Given the description of an element on the screen output the (x, y) to click on. 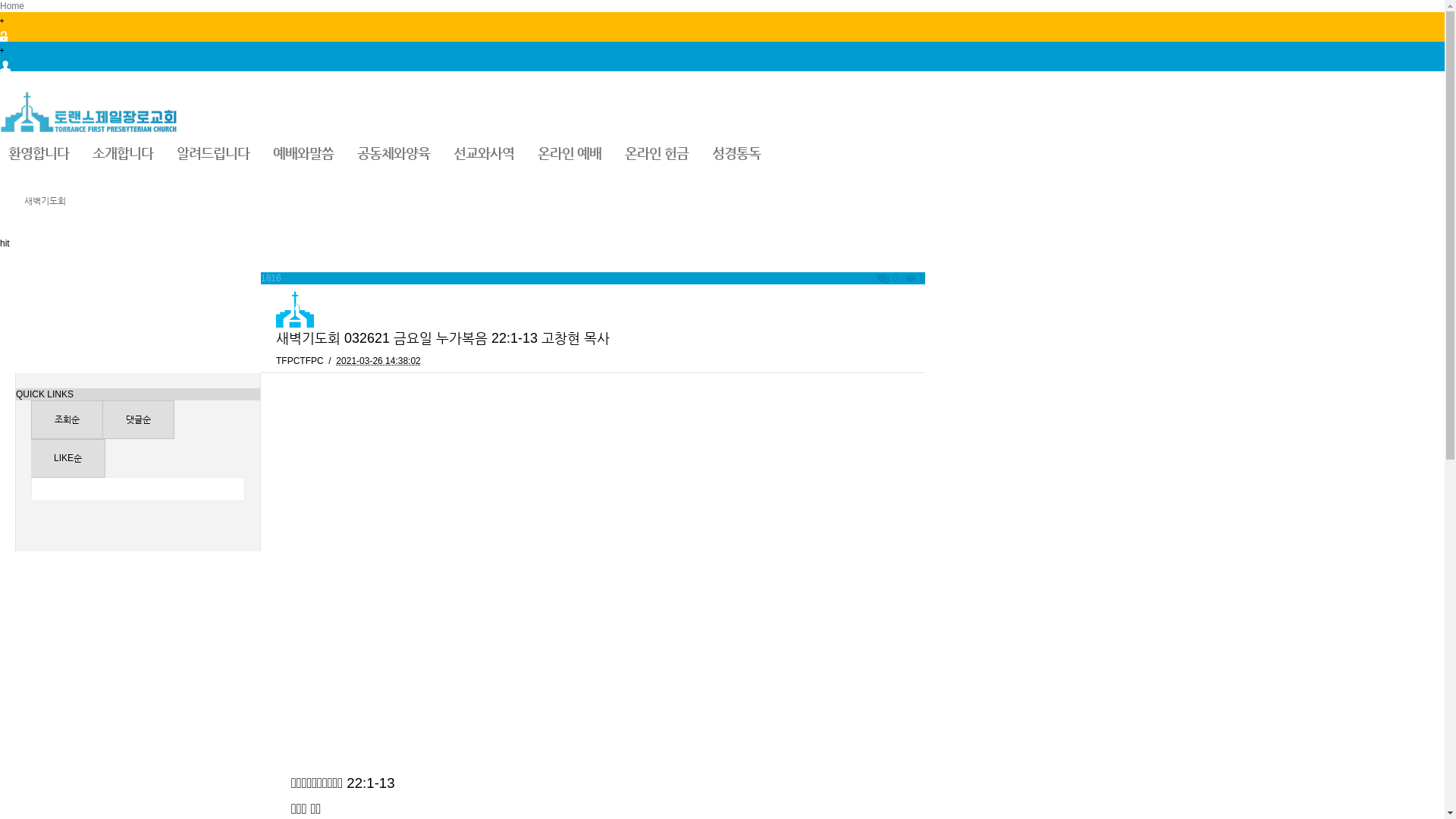
Login Element type: hover (722, 26)
0 Element type: text (914, 278)
0 Element type: text (887, 278)
Home Element type: text (12, 5)
1816 Element type: text (270, 278)
Sign Up Element type: hover (722, 56)
